Given the description of an element on the screen output the (x, y) to click on. 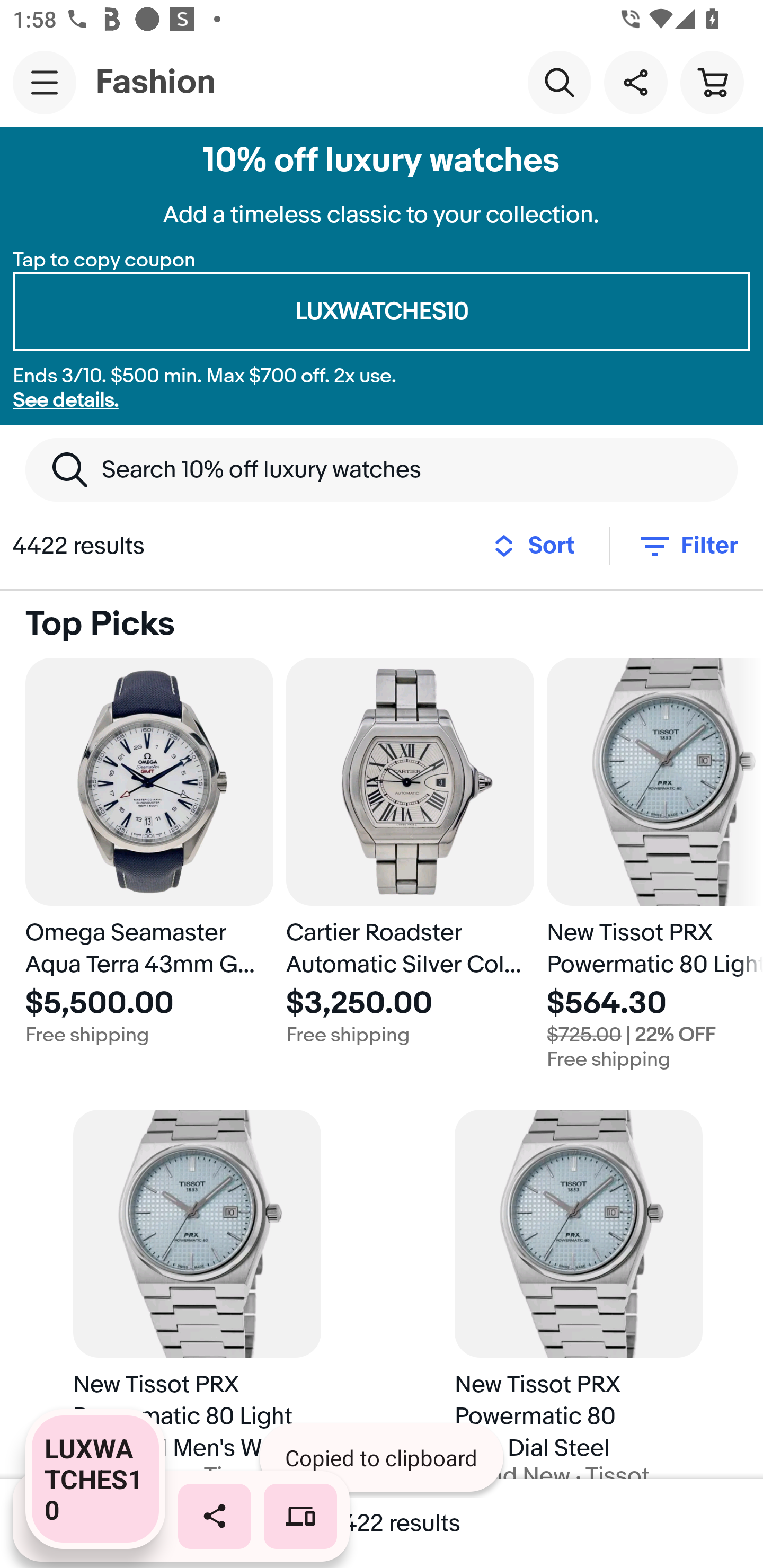
Main navigation, open (44, 82)
Search (559, 81)
Share this page (635, 81)
Cart button shopping cart (711, 81)
LUXWATCHES10 (381, 311)
See details. (65, 400)
Search 10% off luxury watches (381, 469)
Sort (538, 546)
Filter (686, 546)
